Given the description of an element on the screen output the (x, y) to click on. 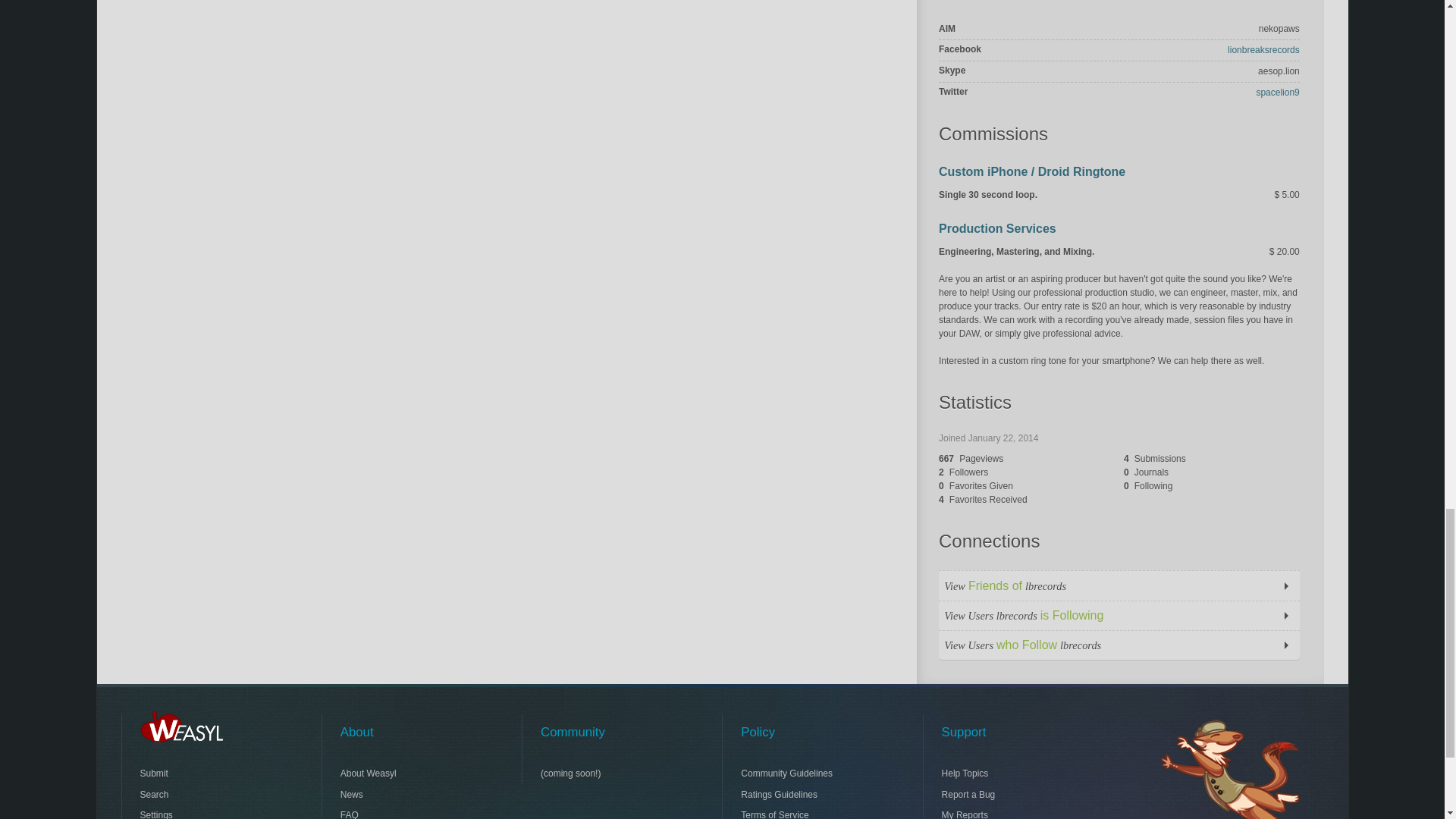
View Friends of lbrecords (1119, 584)
spacelion9 (1276, 91)
lionbreaksrecords (1263, 50)
